Given the description of an element on the screen output the (x, y) to click on. 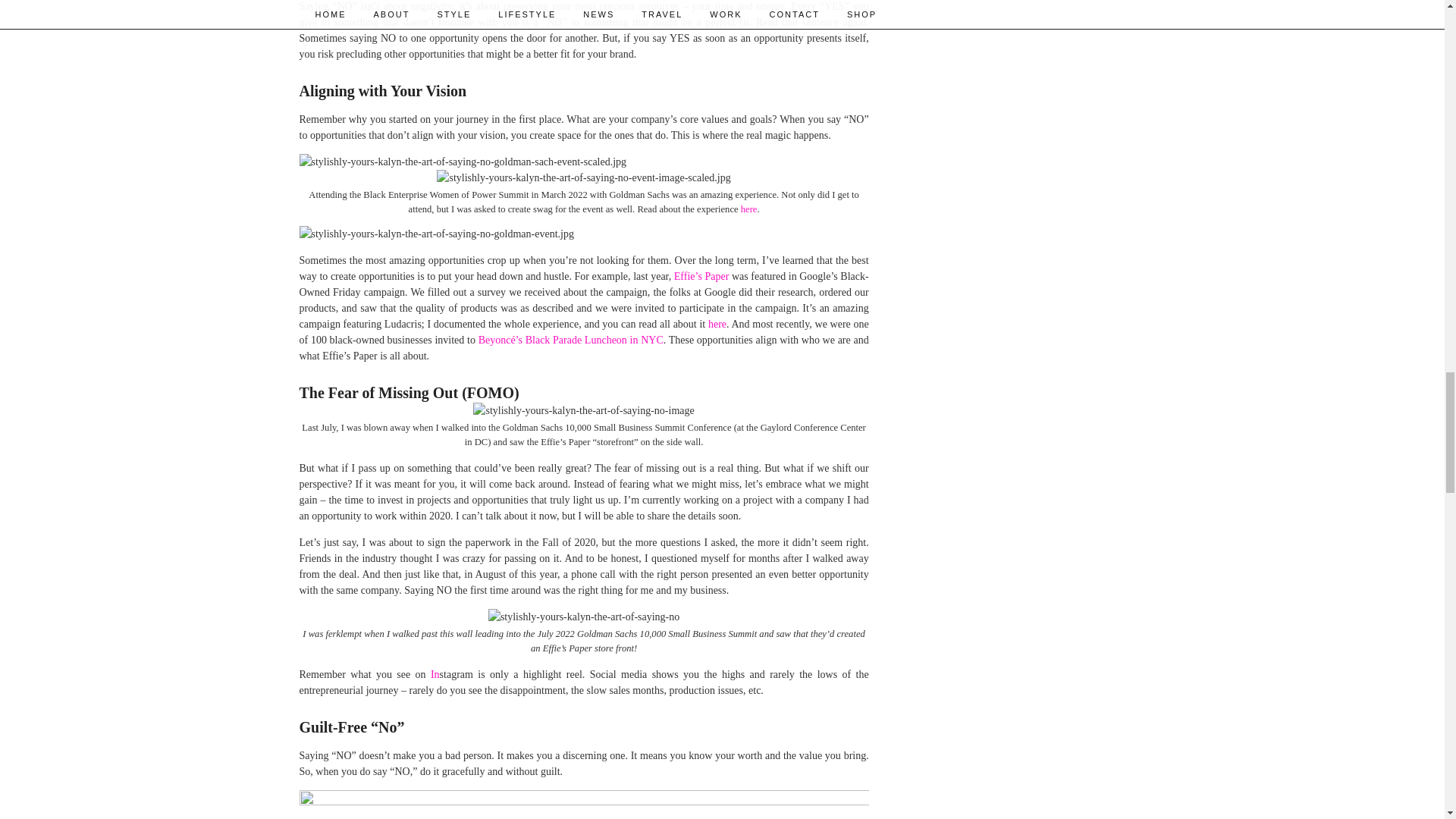
here (749, 208)
here (716, 324)
